Given the description of an element on the screen output the (x, y) to click on. 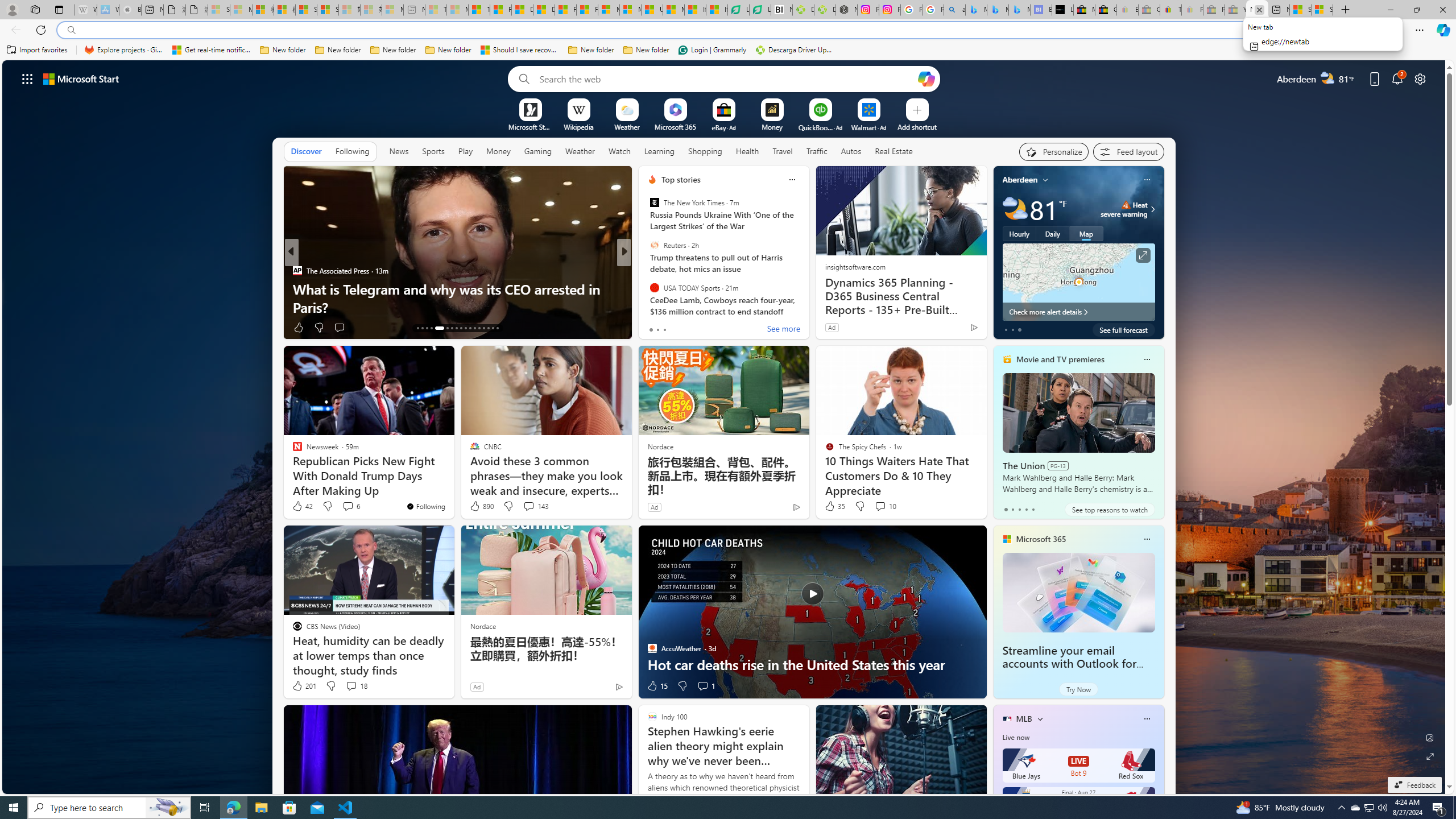
Real Estate (893, 151)
New tab - Sleeping (413, 9)
Search icon (70, 29)
View comments 143 Comment (528, 505)
Larger map  (1077, 282)
LendingTree - Compare Lenders (760, 9)
Discover (306, 151)
Autos (851, 151)
Food and Drink - MSN (500, 9)
Money (498, 151)
To get missing image descriptions, open the context menu. (529, 109)
